Given the description of an element on the screen output the (x, y) to click on. 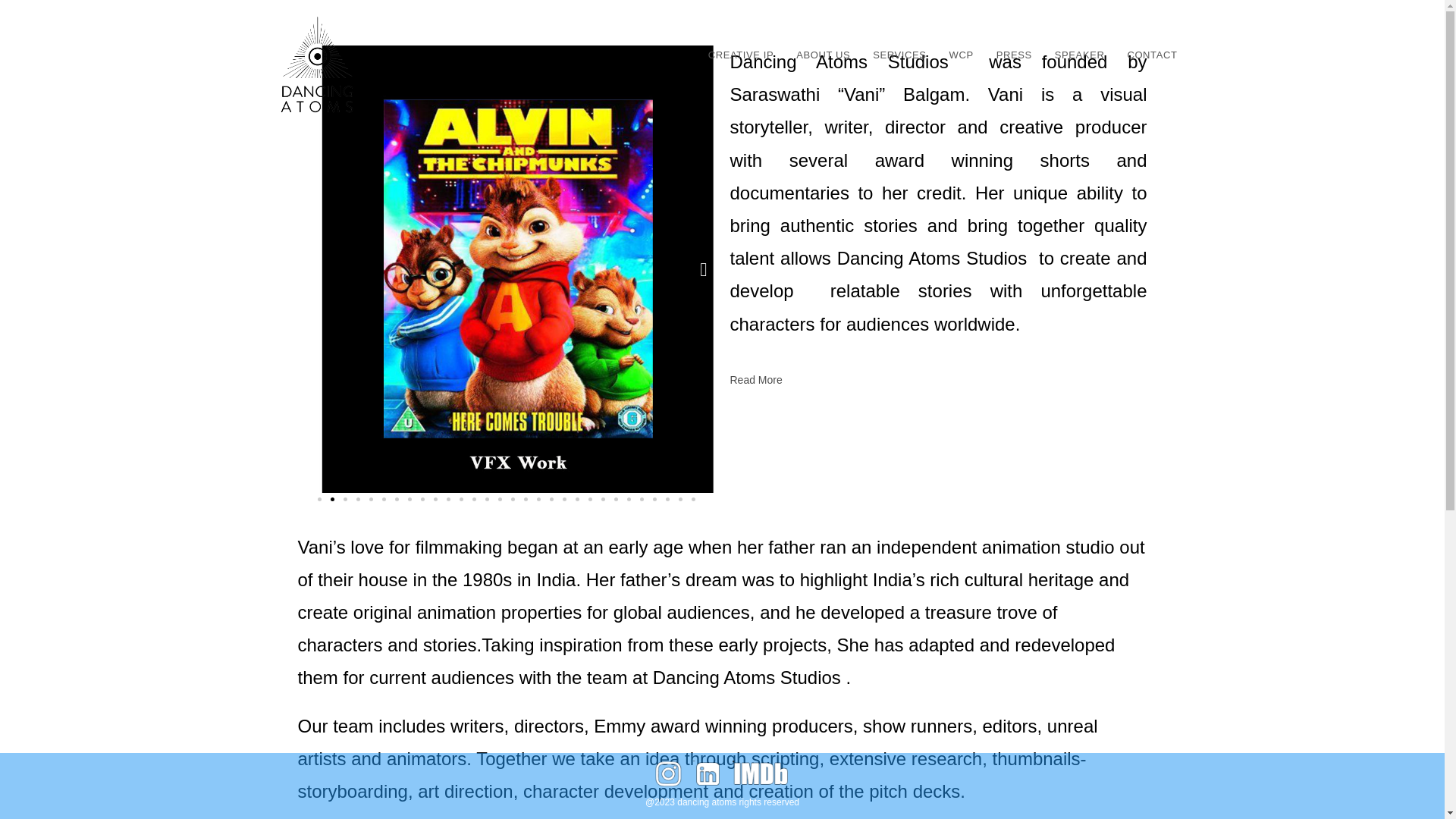
ABOUT US (822, 55)
CREATIVE IP (741, 55)
SERVICES (899, 55)
SPEAKER (1079, 55)
CONTACT (1151, 55)
PRESS (1014, 55)
